Given the description of an element on the screen output the (x, y) to click on. 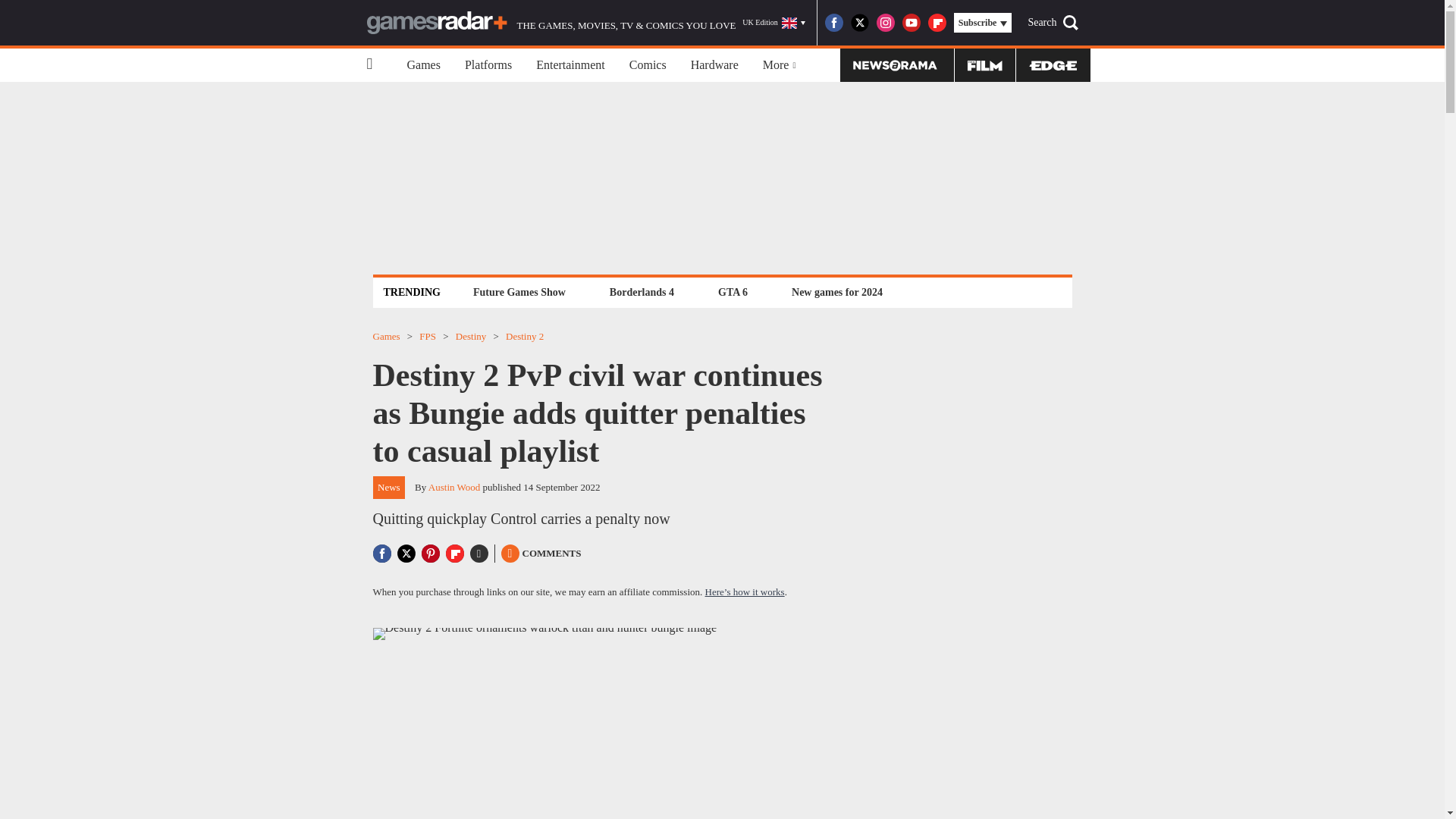
Future Games Show (518, 292)
Platforms (488, 64)
Hardware (714, 64)
Games (422, 64)
Comics (647, 64)
GTA 6 (732, 292)
Borderlands 4 (641, 292)
UK Edition (773, 22)
New games for 2024 (837, 292)
Entertainment (570, 64)
